Given the description of an element on the screen output the (x, y) to click on. 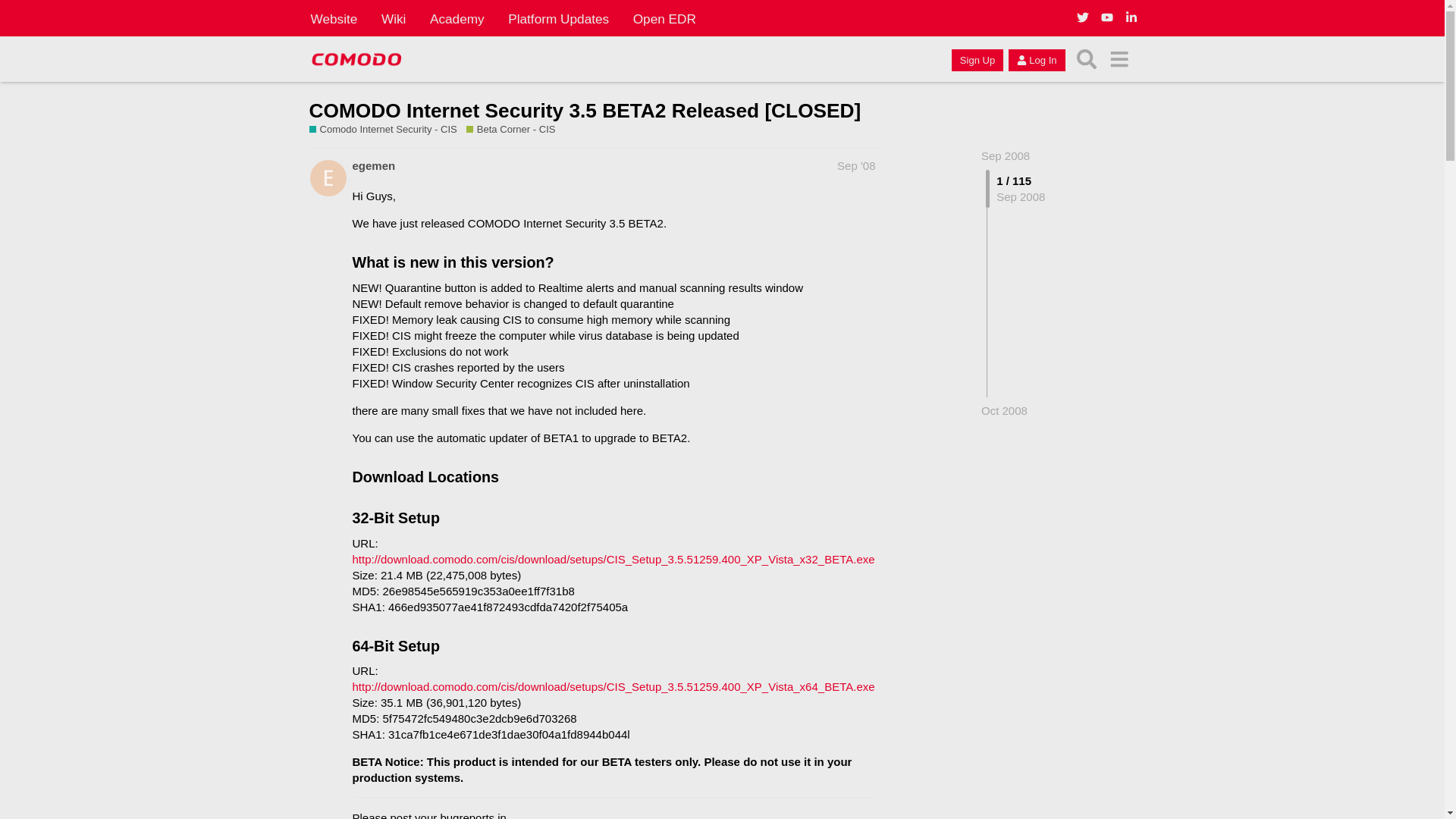
Open EDR (664, 18)
Website (333, 18)
Sep 2008 (1005, 155)
Beta Corner - CIS (510, 129)
Platform Updates (558, 18)
Open EDR (664, 18)
Oct 4, 2008 7:00 am (1004, 410)
Website (333, 18)
Post date (856, 164)
egemen (373, 165)
Sign Up (977, 60)
Sep 2008 (1005, 155)
Log In (1036, 60)
Wiki (393, 18)
Academy (456, 18)
